Given the description of an element on the screen output the (x, y) to click on. 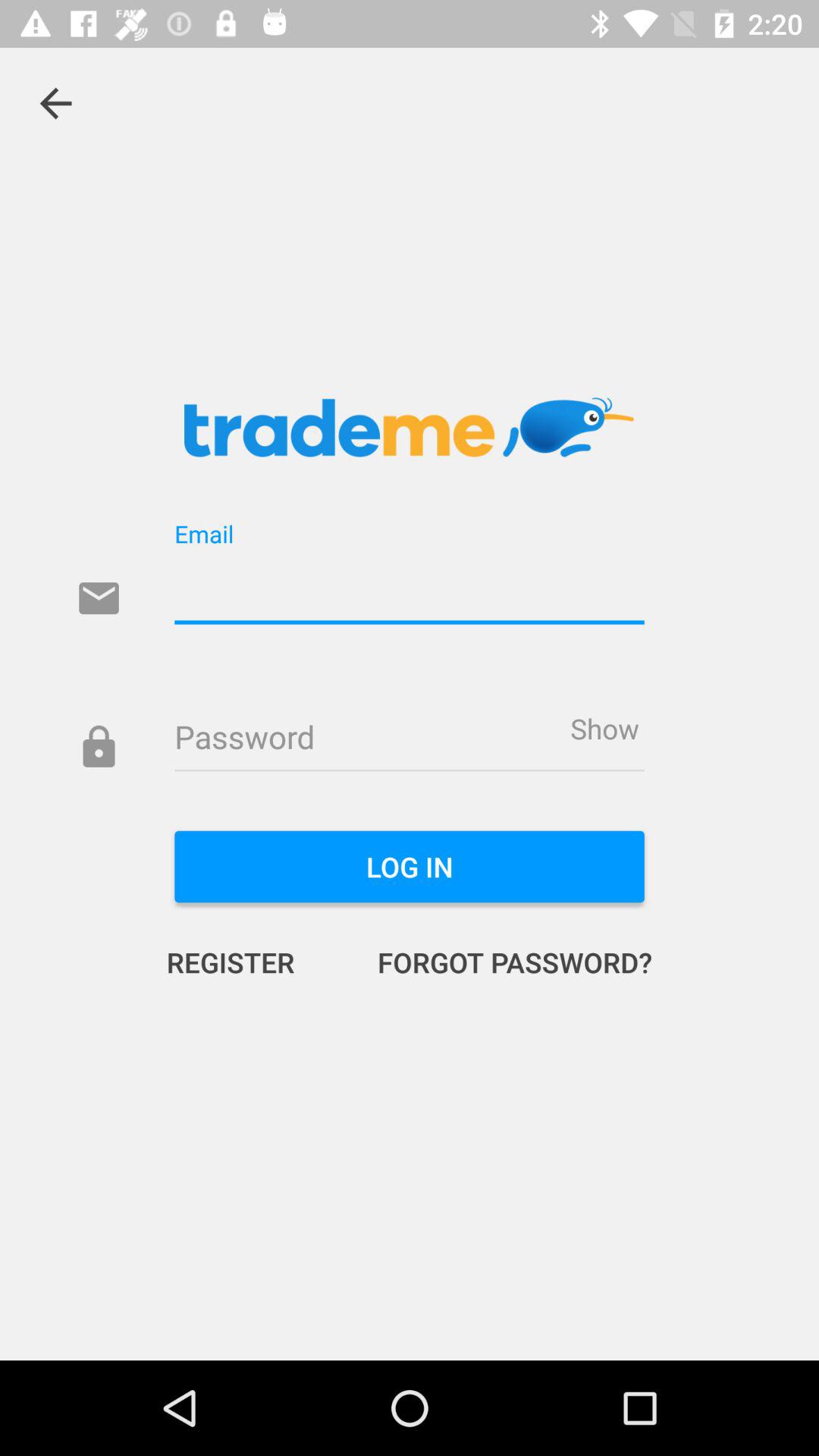
click register icon (246, 962)
